Given the description of an element on the screen output the (x, y) to click on. 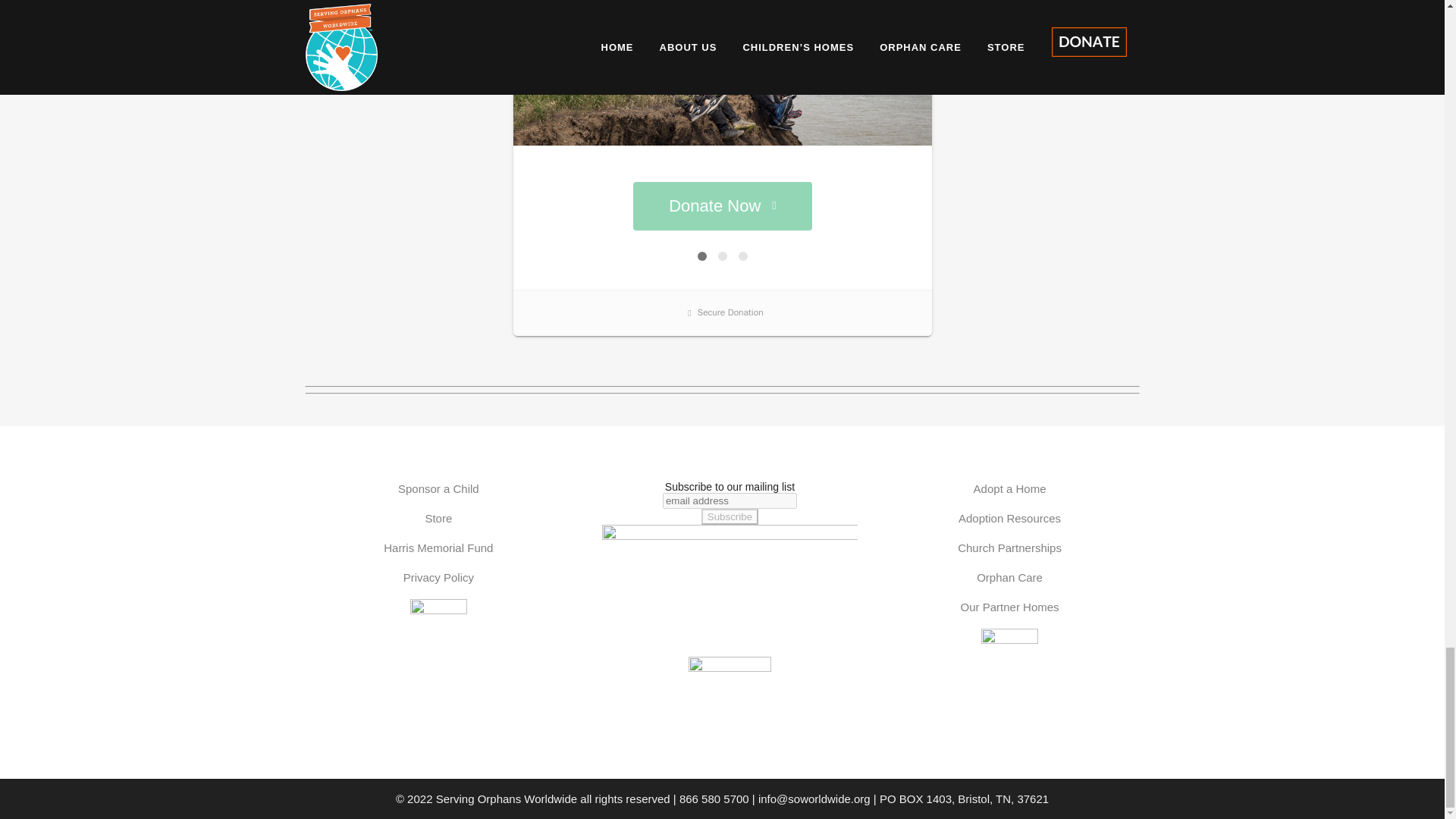
Store (438, 518)
Sponsor a Child (438, 488)
Subscribe (729, 516)
